Given the description of an element on the screen output the (x, y) to click on. 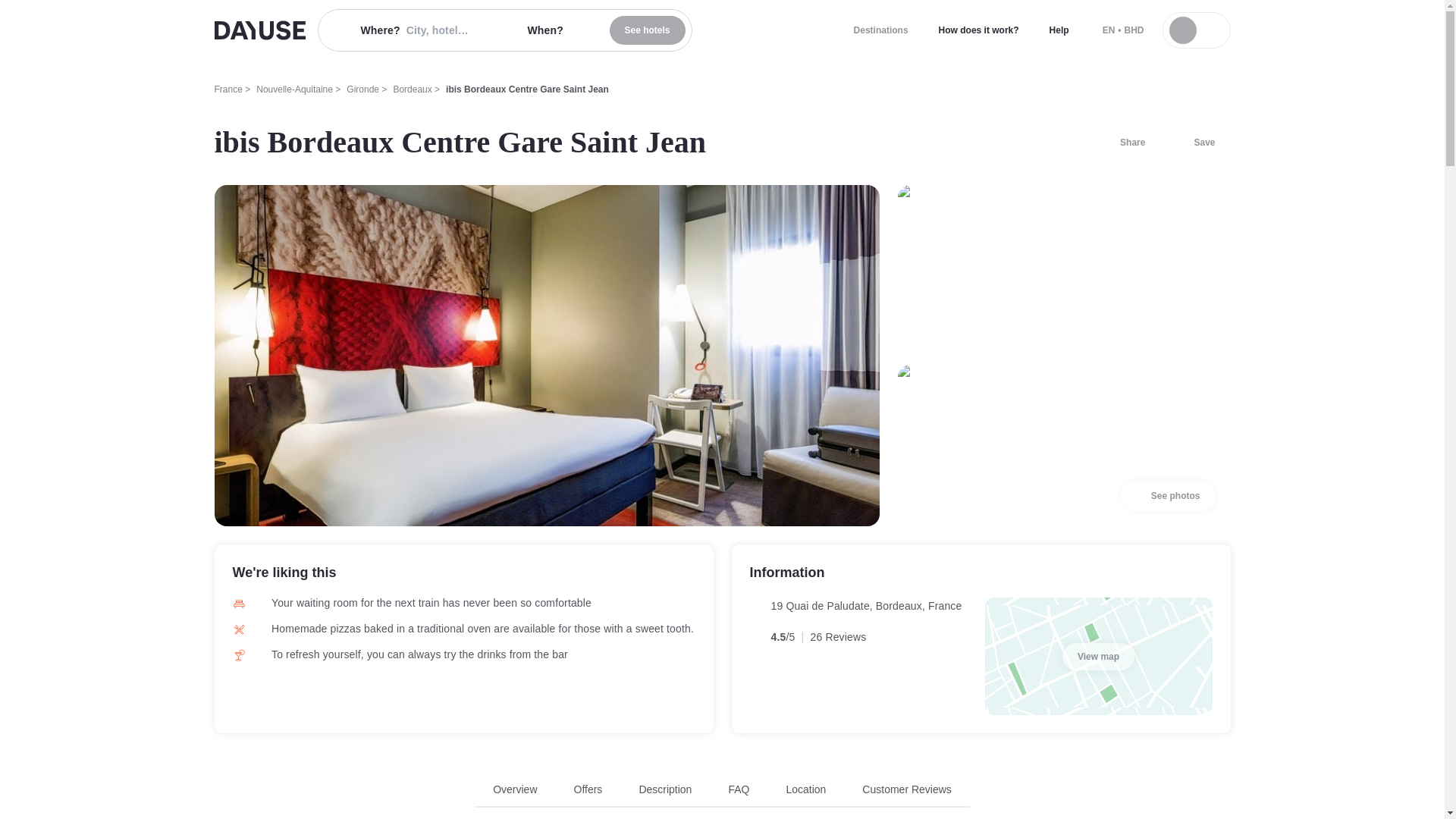
Share (1123, 142)
View map (1098, 656)
Description (665, 789)
Offers (587, 789)
Help (1058, 30)
Customer Reviews (905, 789)
France (227, 89)
See hotels (647, 30)
Location (805, 789)
Destinations (880, 30)
Bordeaux (411, 89)
See photos (1168, 495)
Dayuse (259, 29)
How does it work? (978, 30)
Overview (515, 789)
